Given the description of an element on the screen output the (x, y) to click on. 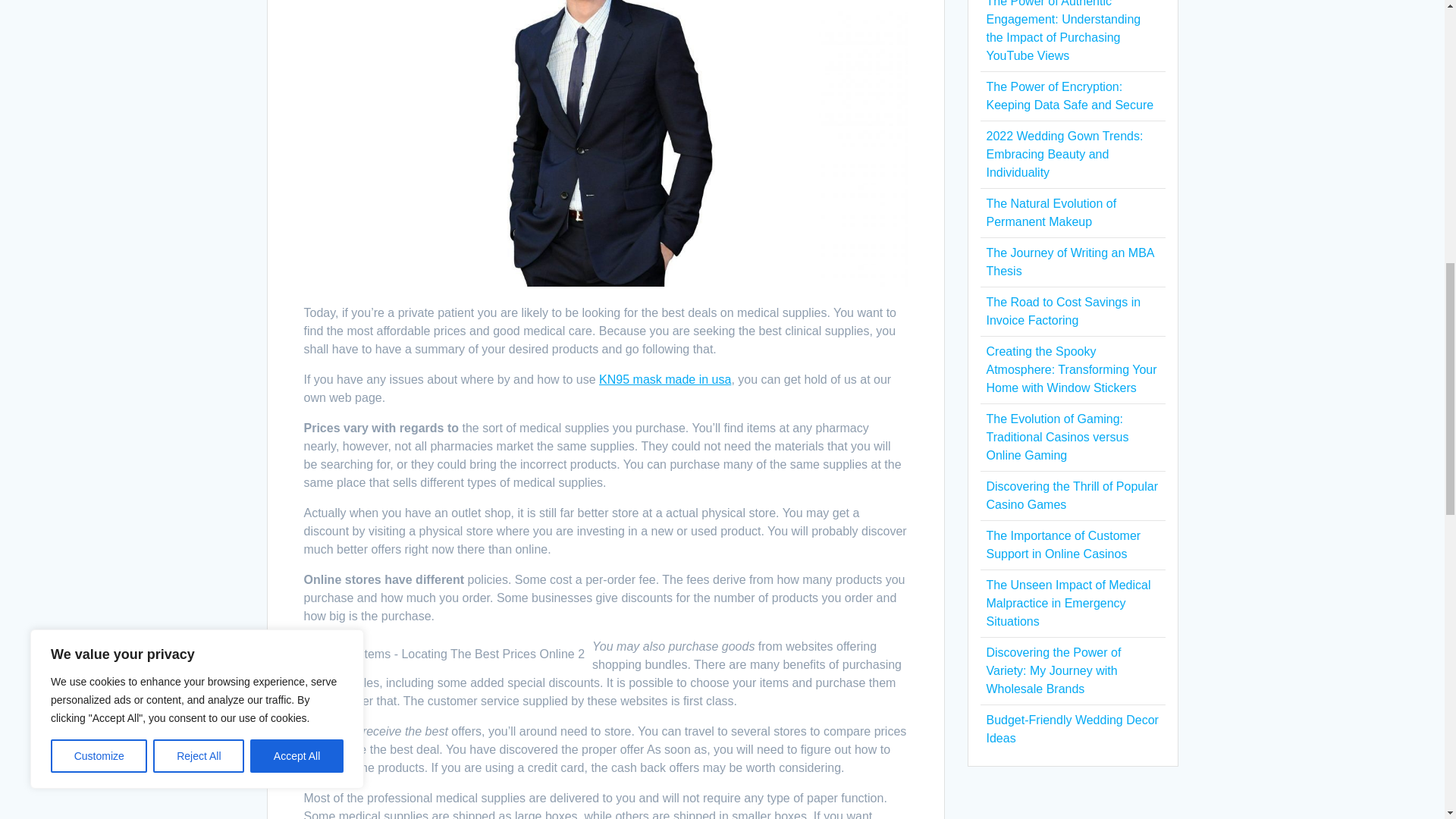
The Power of Encryption: Keeping Data Safe and Secure (1069, 95)
KN95 mask made in usa (664, 379)
2022 Wedding Gown Trends: Embracing Beauty and Individuality (1063, 154)
